Given the description of an element on the screen output the (x, y) to click on. 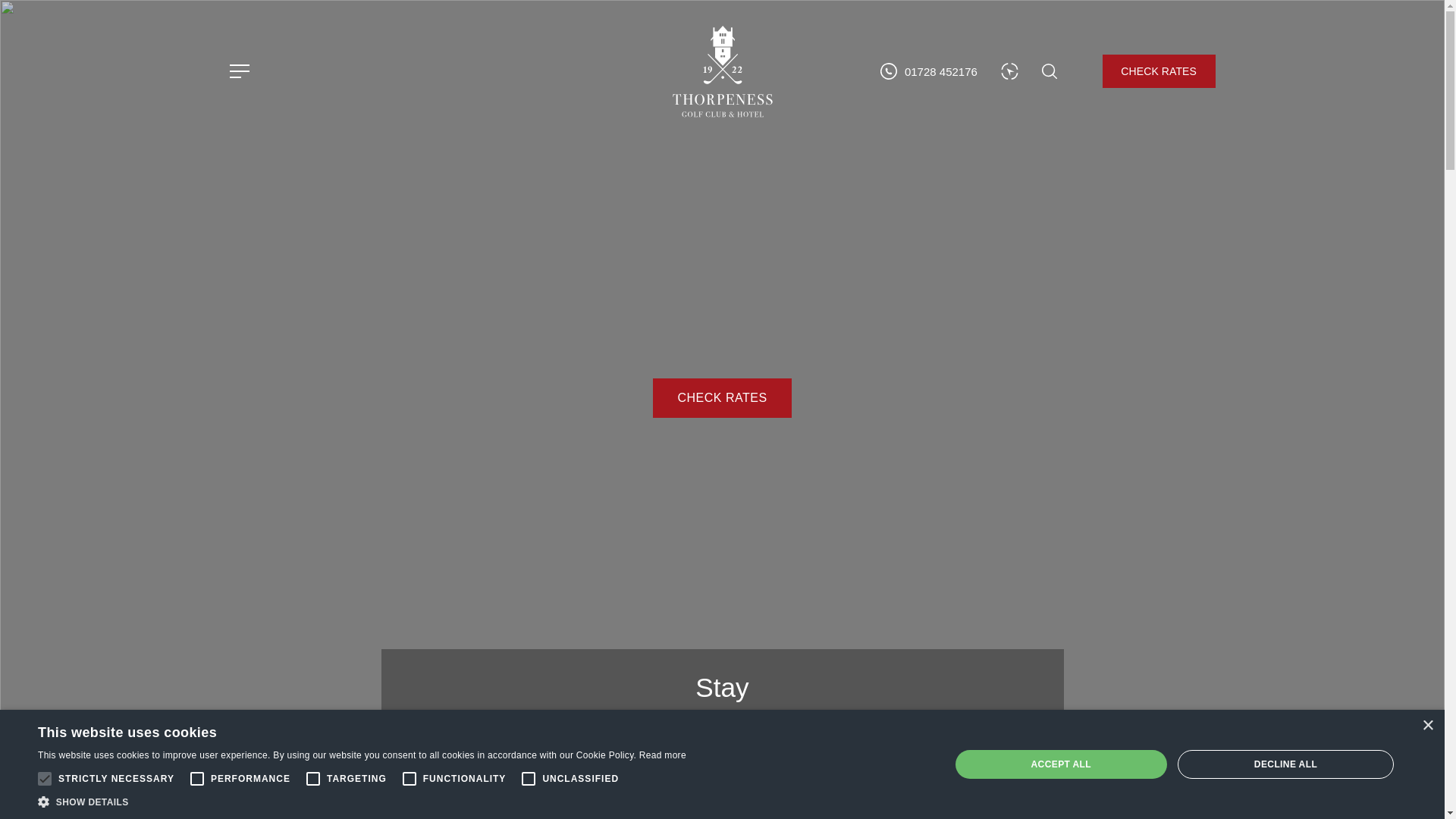
CHECK RATES (1158, 70)
01728 452176 (928, 71)
CHECK RATES (721, 397)
